Given the description of an element on the screen output the (x, y) to click on. 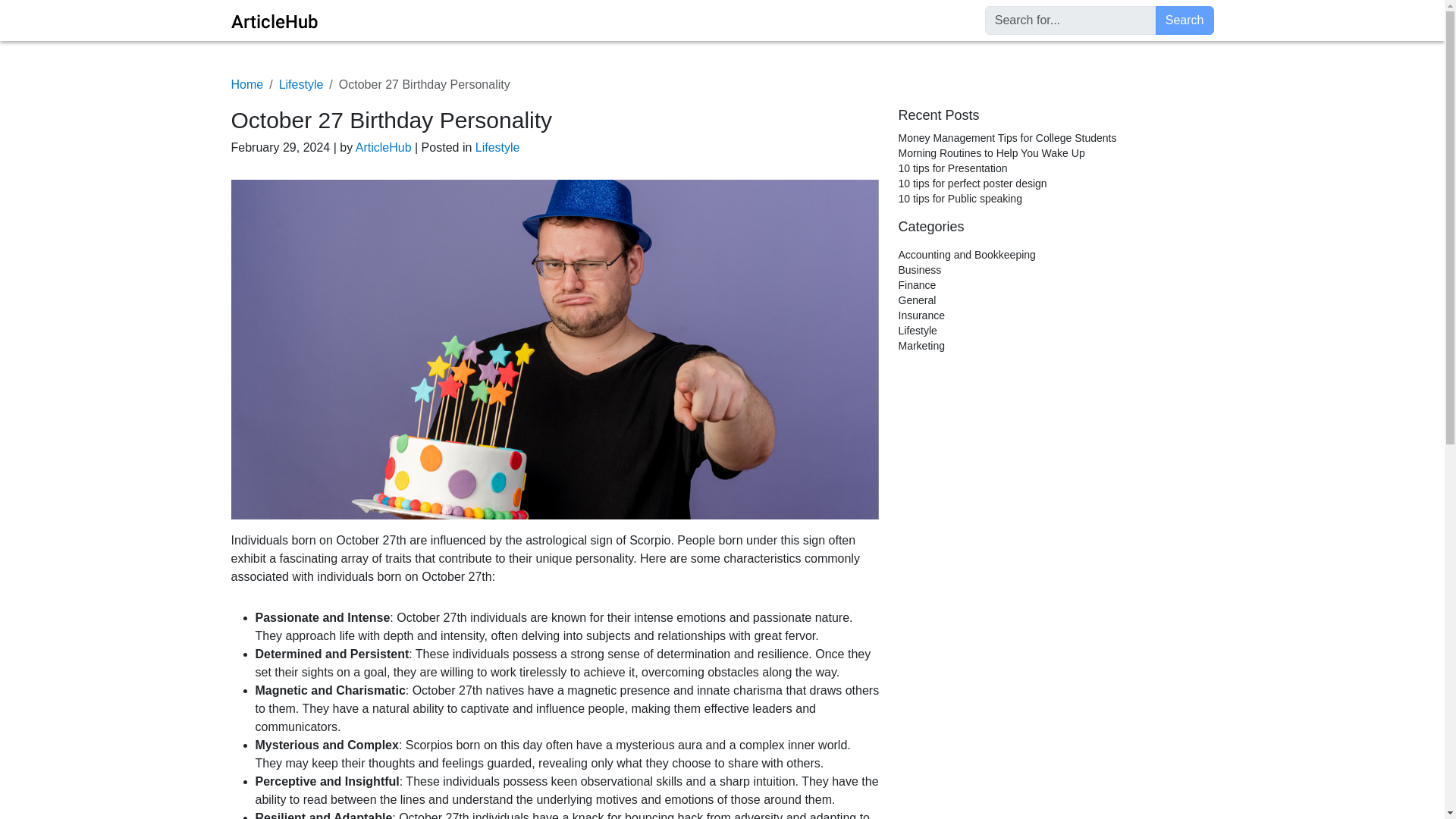
Lifestyle (301, 83)
Lifestyle (497, 146)
Finance (917, 285)
10 tips for Presentation (952, 168)
Home (246, 83)
Search (1185, 20)
General (917, 300)
Insurance (920, 315)
ArticleHub (384, 146)
10 tips for Public speaking (960, 198)
